Given the description of an element on the screen output the (x, y) to click on. 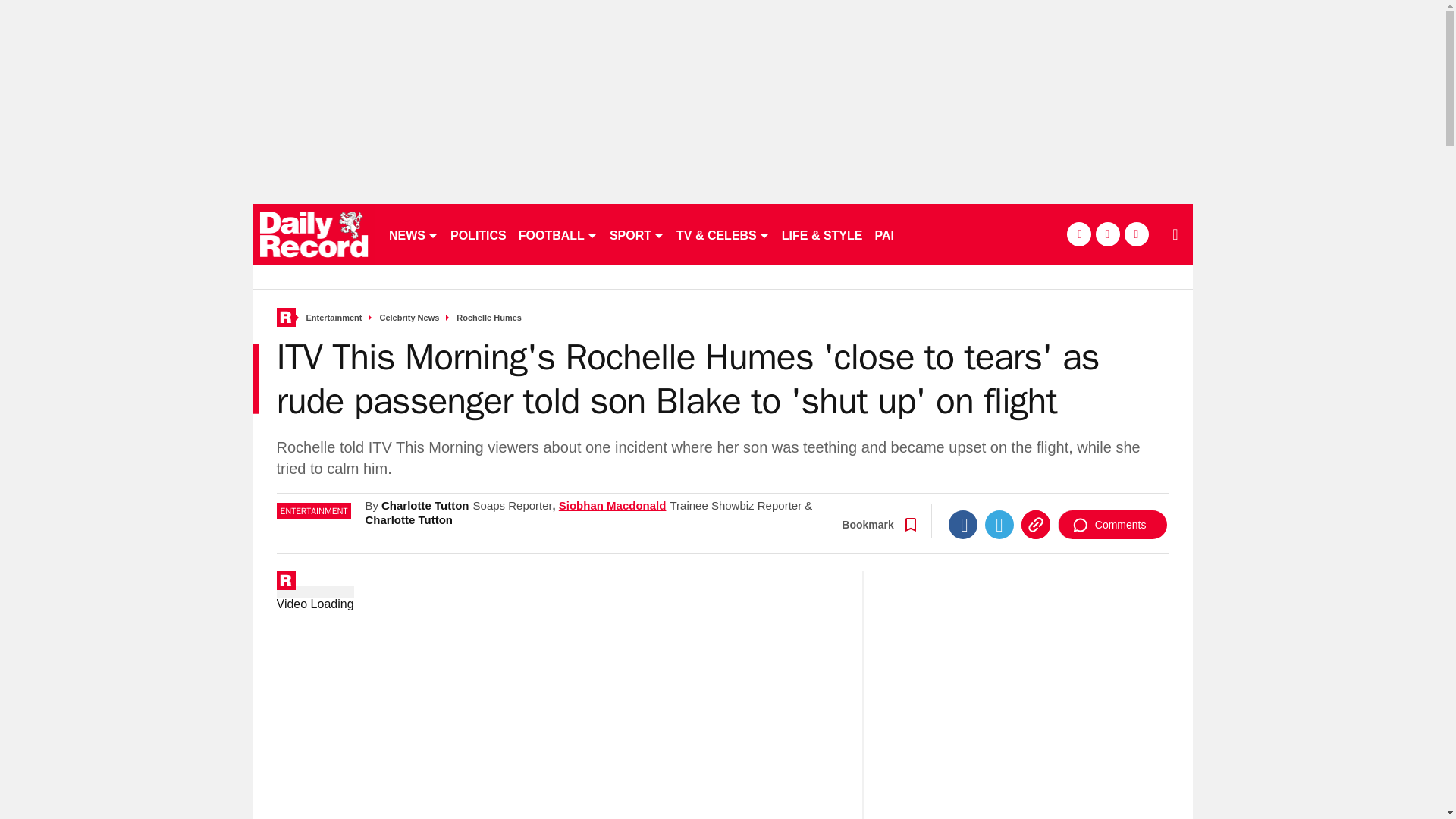
FOOTBALL (558, 233)
POLITICS (478, 233)
dailyrecord (313, 233)
Facebook (956, 588)
facebook (997, 233)
Twitter (992, 588)
NEWS (413, 233)
SPORT (636, 233)
instagram (1055, 233)
twitter (1026, 233)
